Given the description of an element on the screen output the (x, y) to click on. 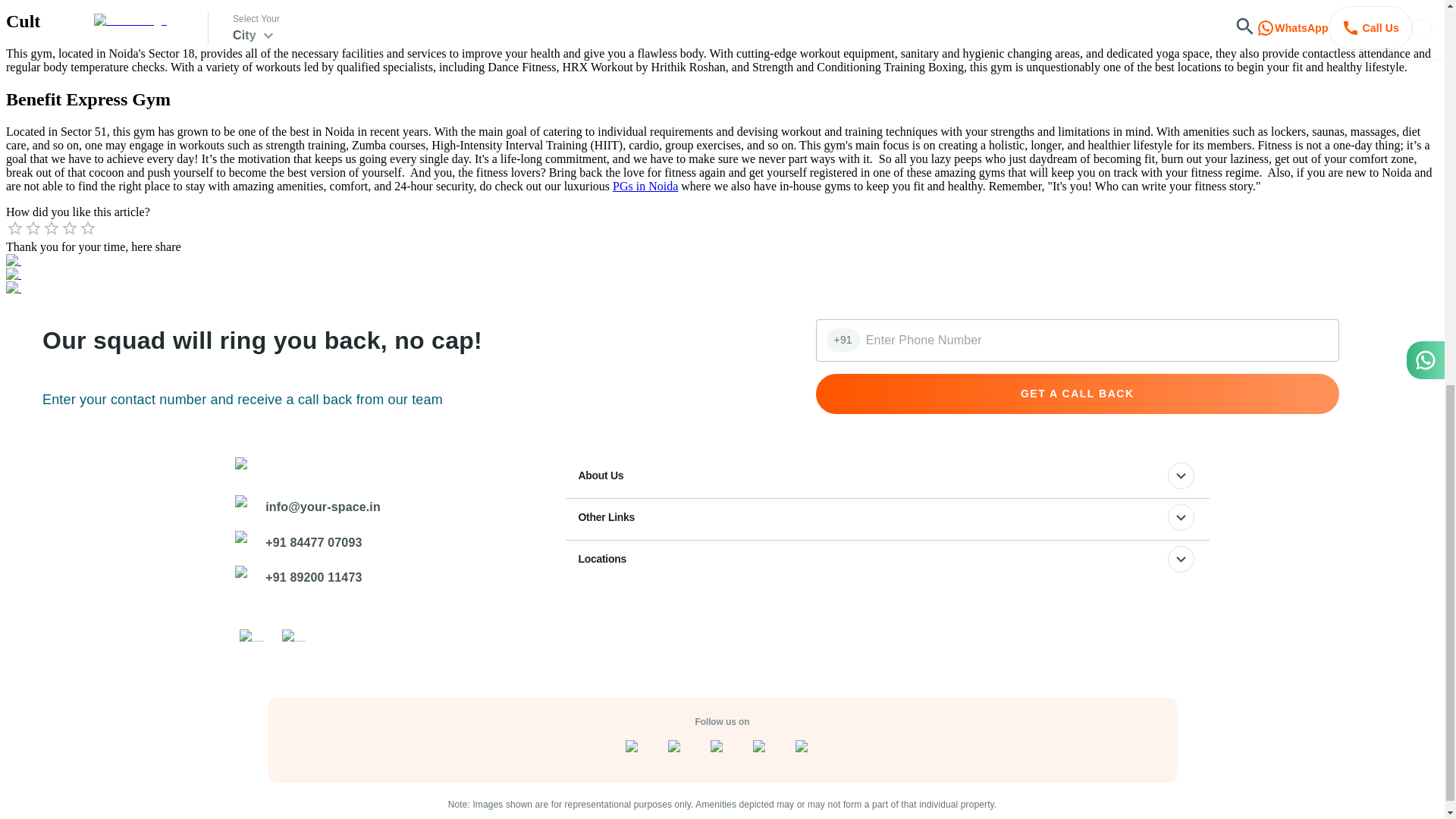
PGs in Noida (645, 185)
GET A CALL BACK (1077, 393)
